Given the description of an element on the screen output the (x, y) to click on. 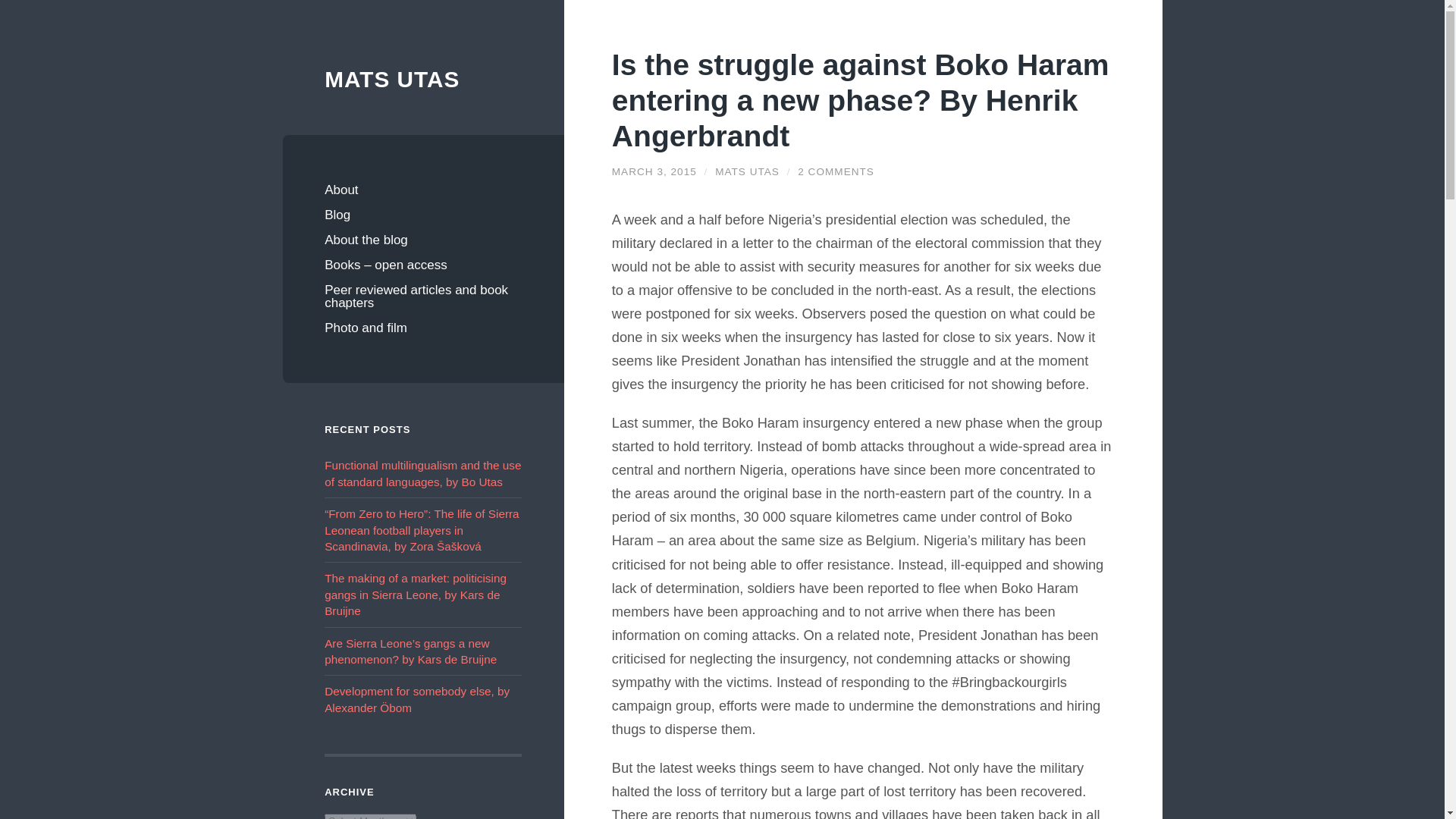
2 COMMENTS (836, 171)
MATS UTAS (422, 79)
About (422, 189)
Photo and film (422, 327)
Peer reviewed articles and book chapters (422, 296)
About the blog (422, 239)
Posts by Mats Utas (746, 171)
